Given the description of an element on the screen output the (x, y) to click on. 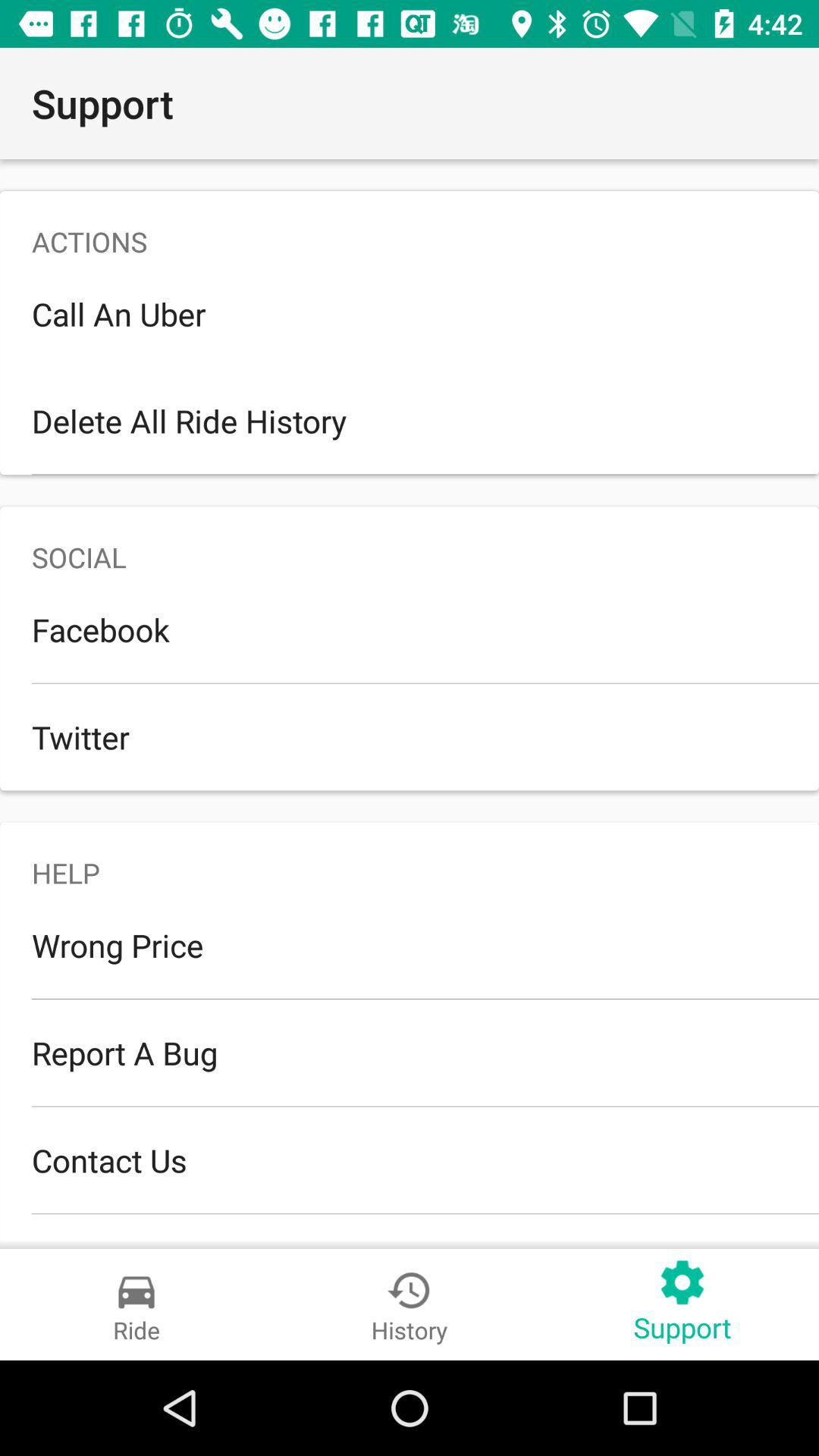
tap item below the social (409, 629)
